Given the description of an element on the screen output the (x, y) to click on. 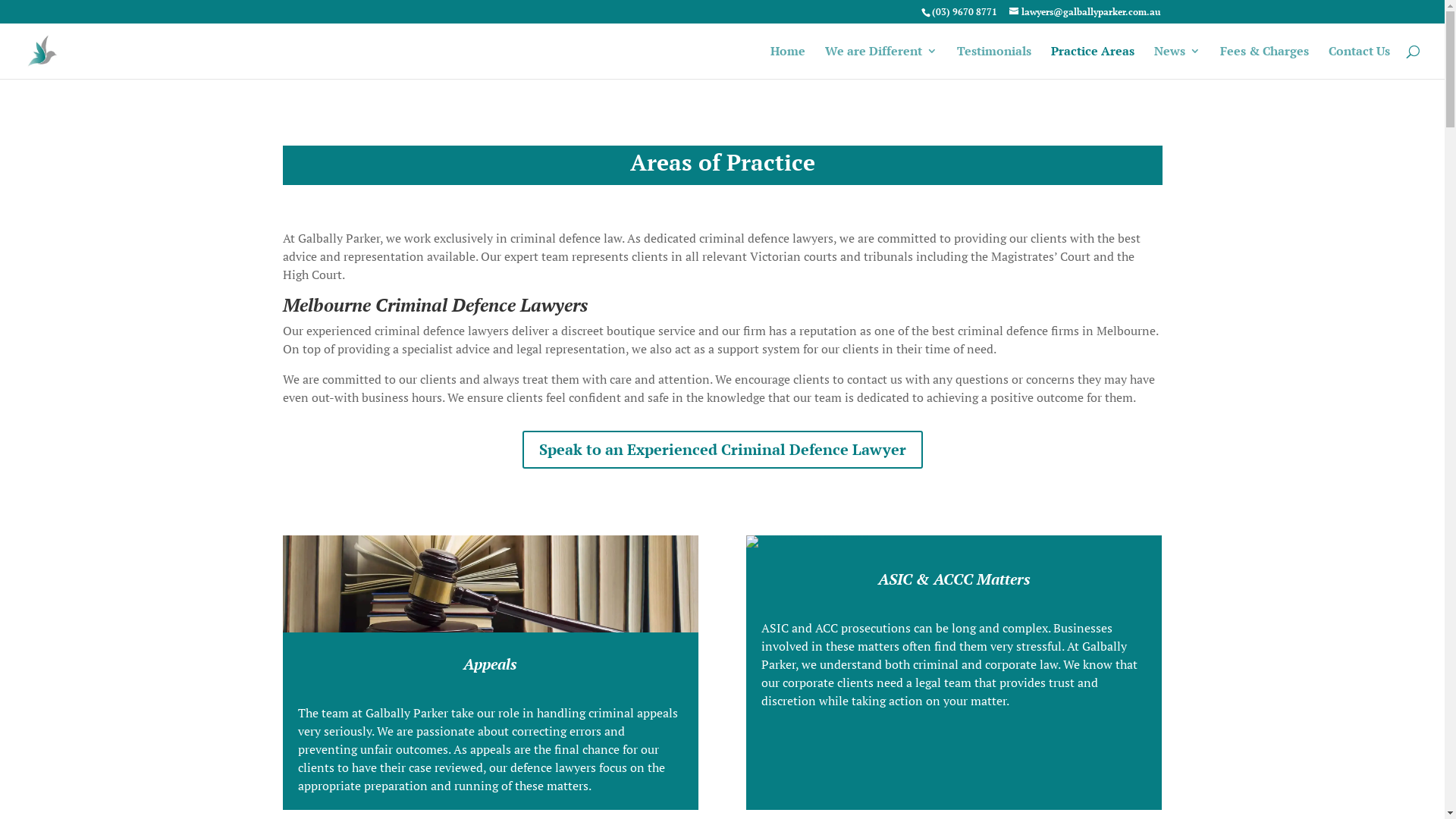
ASIC & ACCC Matters Element type: text (954, 578)
Home Element type: text (787, 61)
(03) 9670 8771 Element type: text (963, 11)
Appeals Element type: text (490, 663)
We are Different Element type: text (881, 61)
Contact Us Element type: text (1359, 61)
lawyers@galballyparker.com.au Element type: text (1083, 11)
News Element type: text (1177, 61)
Testimonials Element type: text (994, 61)
Practice Areas Element type: text (1092, 61)
Fees & Charges Element type: text (1264, 61)
Speak to an Experienced Criminal Defence Lawyer Element type: text (721, 449)
